Given the description of an element on the screen output the (x, y) to click on. 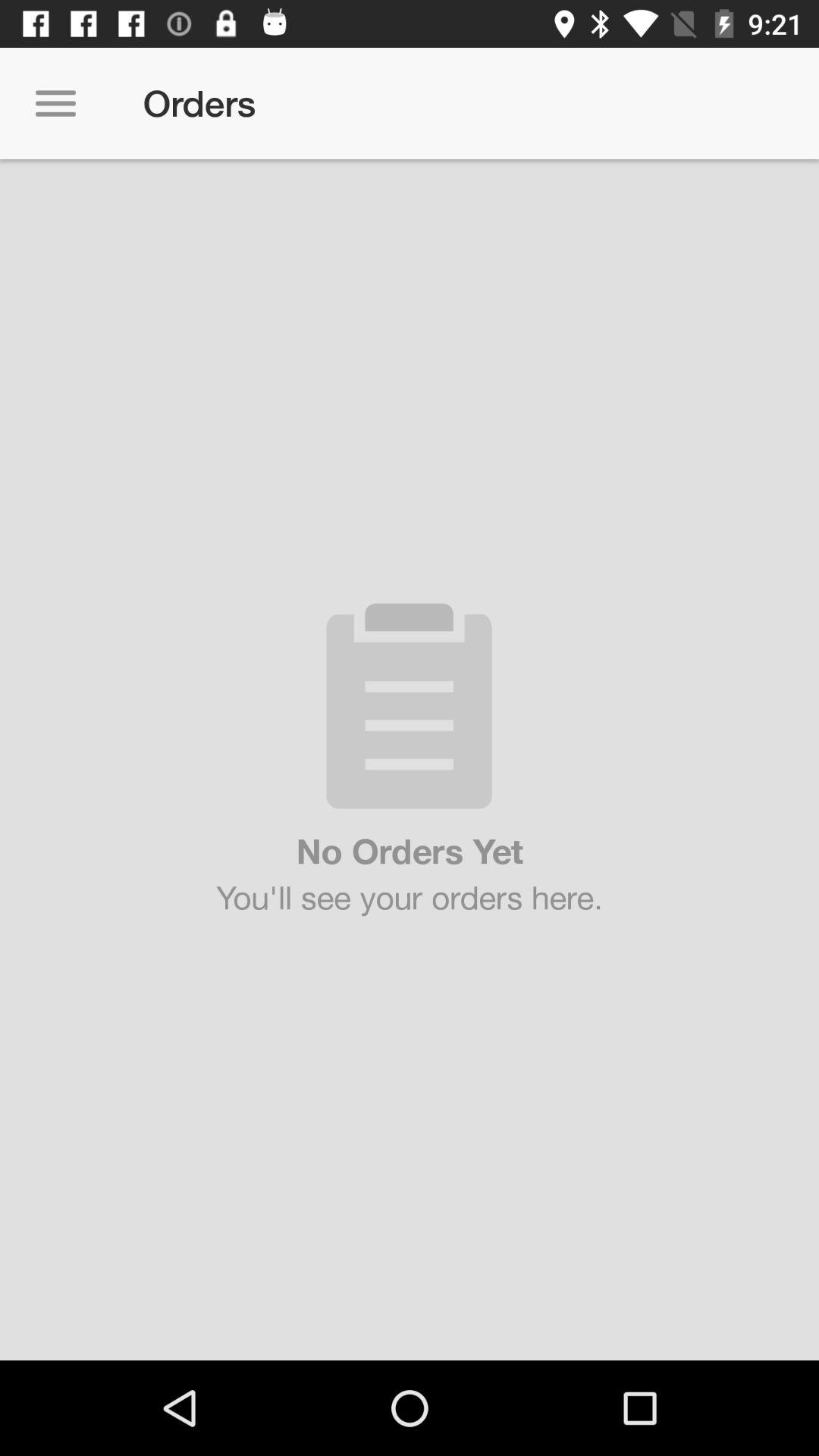
turn on the item above no orders yet item (55, 103)
